Given the description of an element on the screen output the (x, y) to click on. 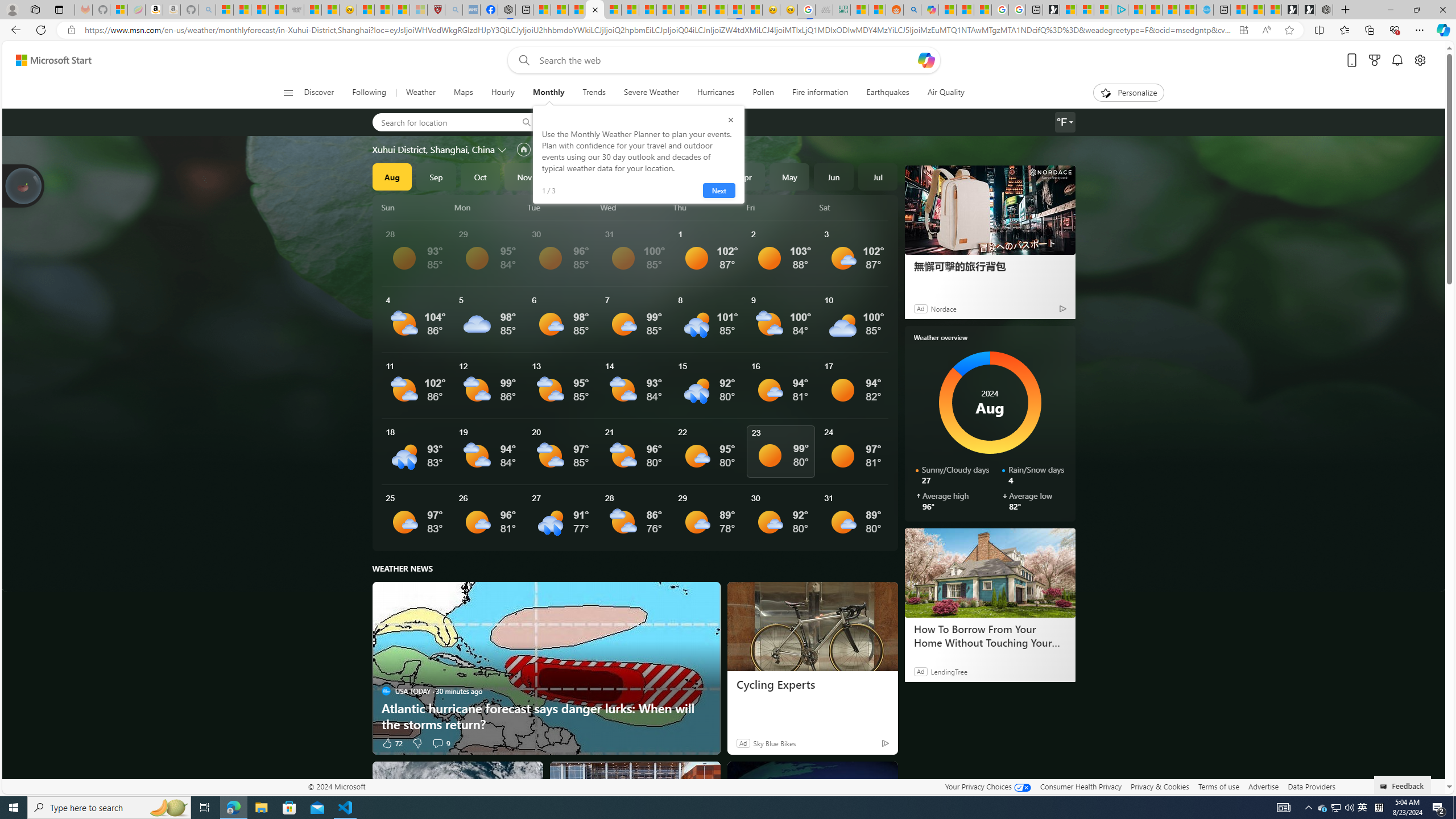
Hourly (502, 92)
72 Like (392, 742)
AutomationID: donut-chart-monthly (990, 402)
Hurricanes (715, 92)
Earthquakes (888, 92)
